Given the description of an element on the screen output the (x, y) to click on. 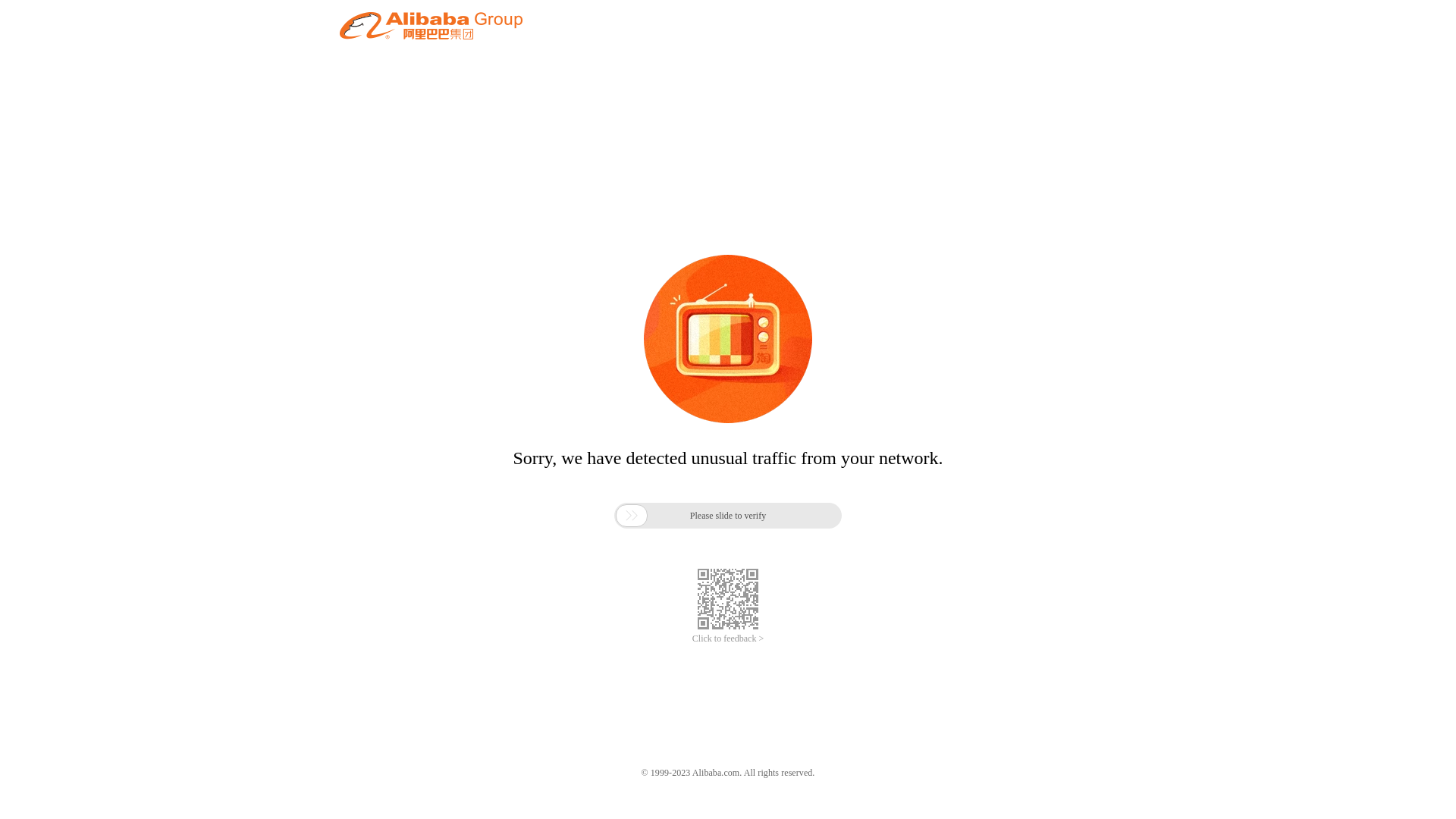
Click to feedback > Element type: text (727, 638)
